Given the description of an element on the screen output the (x, y) to click on. 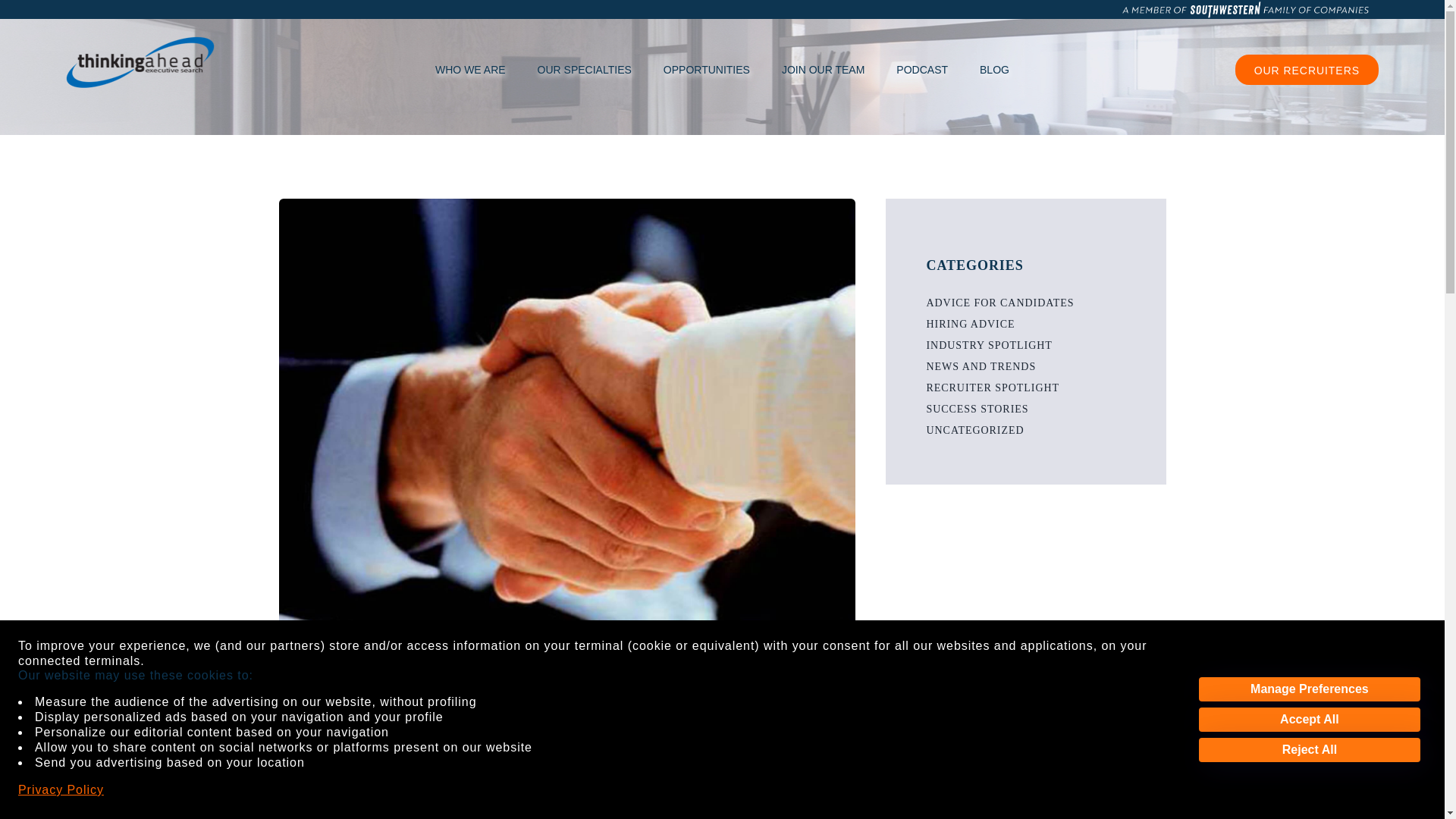
OUR SPECIALTIES (584, 69)
JOIN OUR TEAM (822, 69)
OPPORTUNITIES (706, 69)
Manage Preferences (1309, 689)
WHO WE ARE (470, 69)
Accept All (1309, 719)
Reject All (1309, 749)
Privacy Policy (60, 789)
OUR RECRUITERS (1306, 69)
PODCAST (921, 69)
BLOG (994, 69)
